Given the description of an element on the screen output the (x, y) to click on. 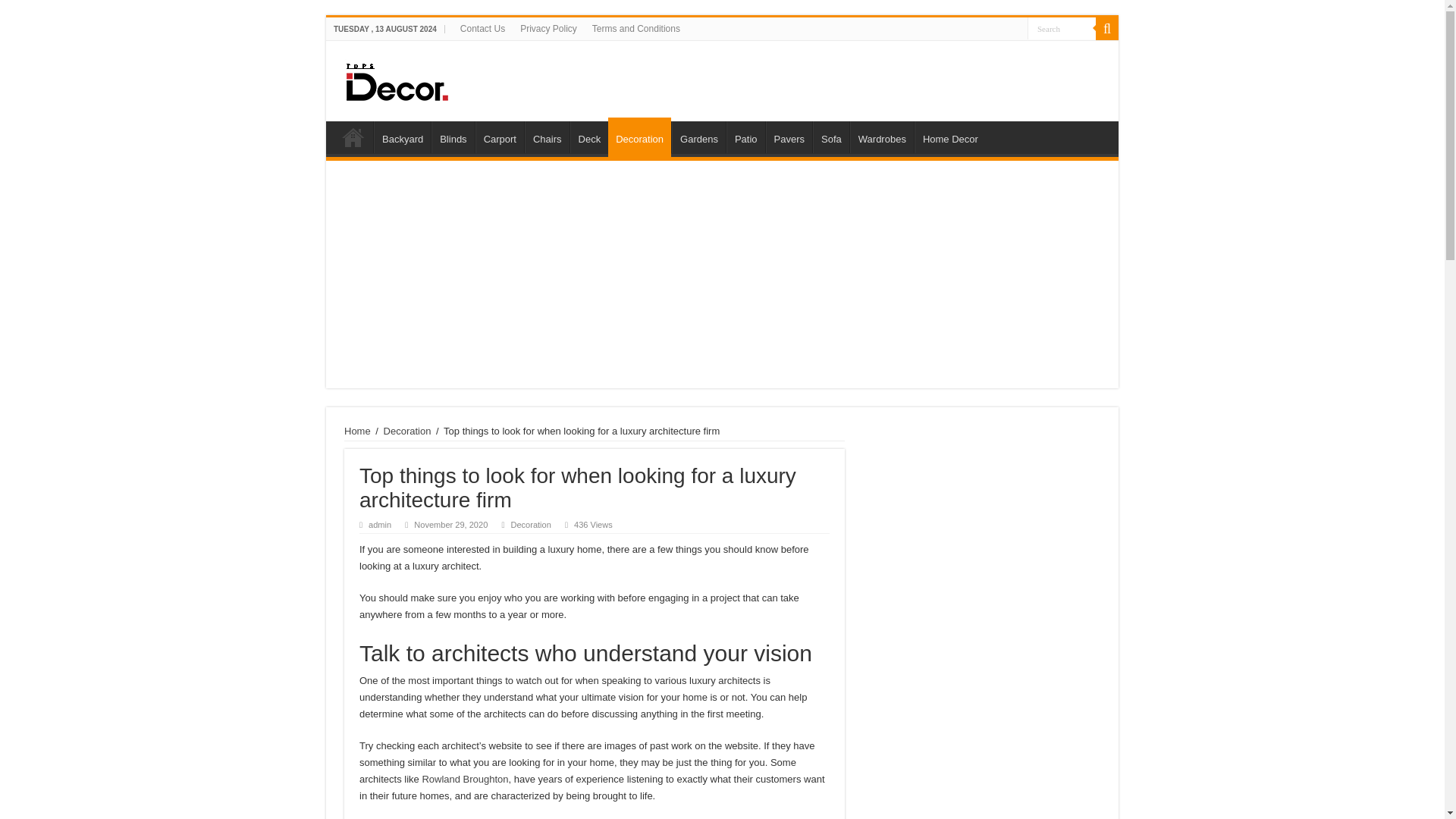
Search (1107, 28)
Decoration (530, 524)
Home (352, 137)
Pavers (788, 137)
Gardens (698, 137)
Home (357, 430)
Contact Us (482, 28)
Decoration (639, 137)
Search (1061, 28)
